Given the description of an element on the screen output the (x, y) to click on. 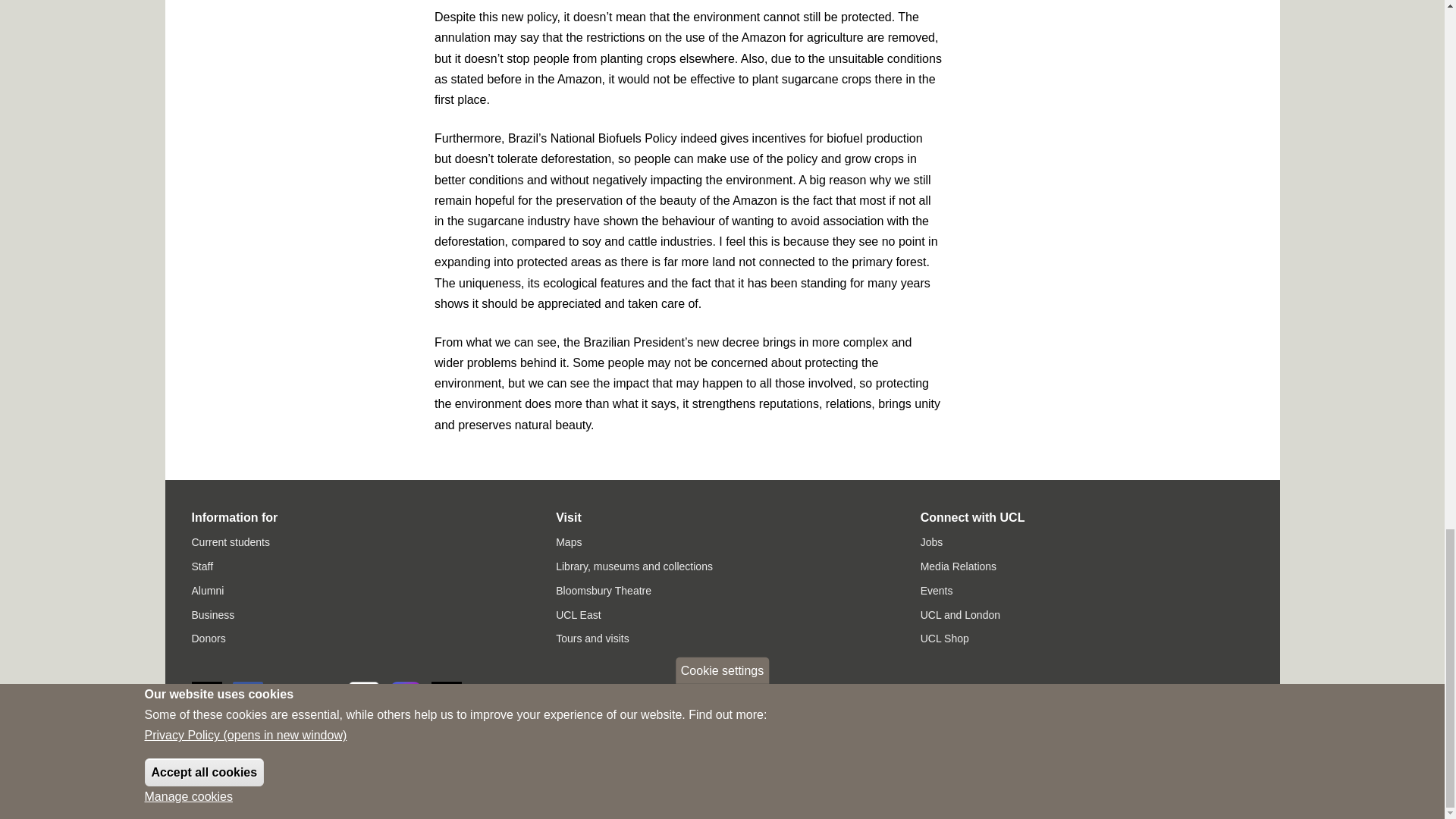
Tours and visits (592, 638)
Maps (568, 541)
Media Relations (957, 566)
UCL East (577, 614)
Bloomsbury Theatre (603, 590)
Jobs (931, 541)
Library, museums and collections (634, 566)
Alumni (207, 590)
Staff (201, 566)
Donors (207, 638)
Current students (229, 541)
Events (936, 590)
Business (212, 614)
UCL and London (960, 614)
UCL Shop (944, 638)
